Given the description of an element on the screen output the (x, y) to click on. 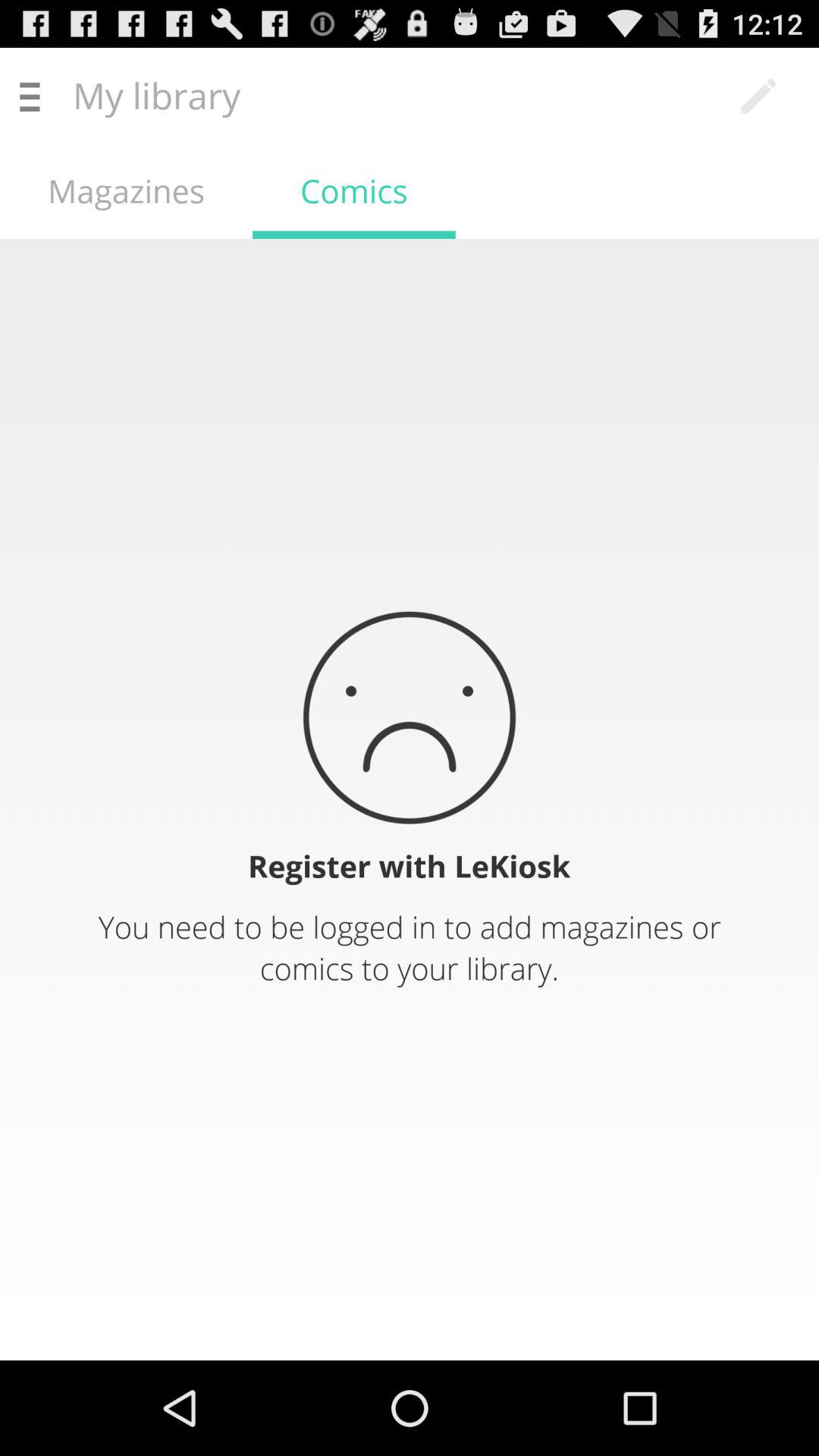
notification (409, 799)
